Given the description of an element on the screen output the (x, y) to click on. 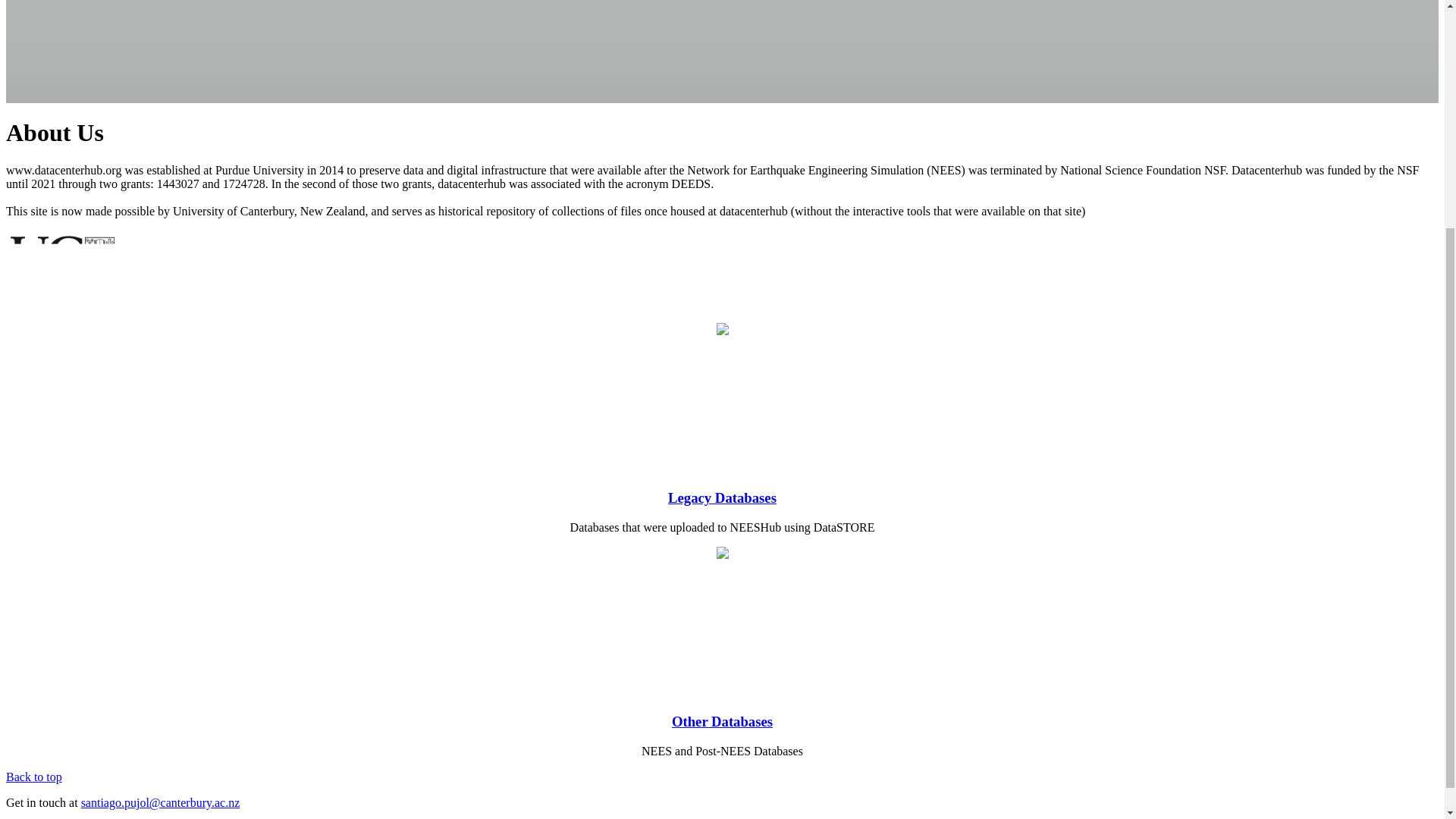
Back to top (33, 776)
Legacy Databases (722, 497)
Other Databases (722, 721)
